Given the description of an element on the screen output the (x, y) to click on. 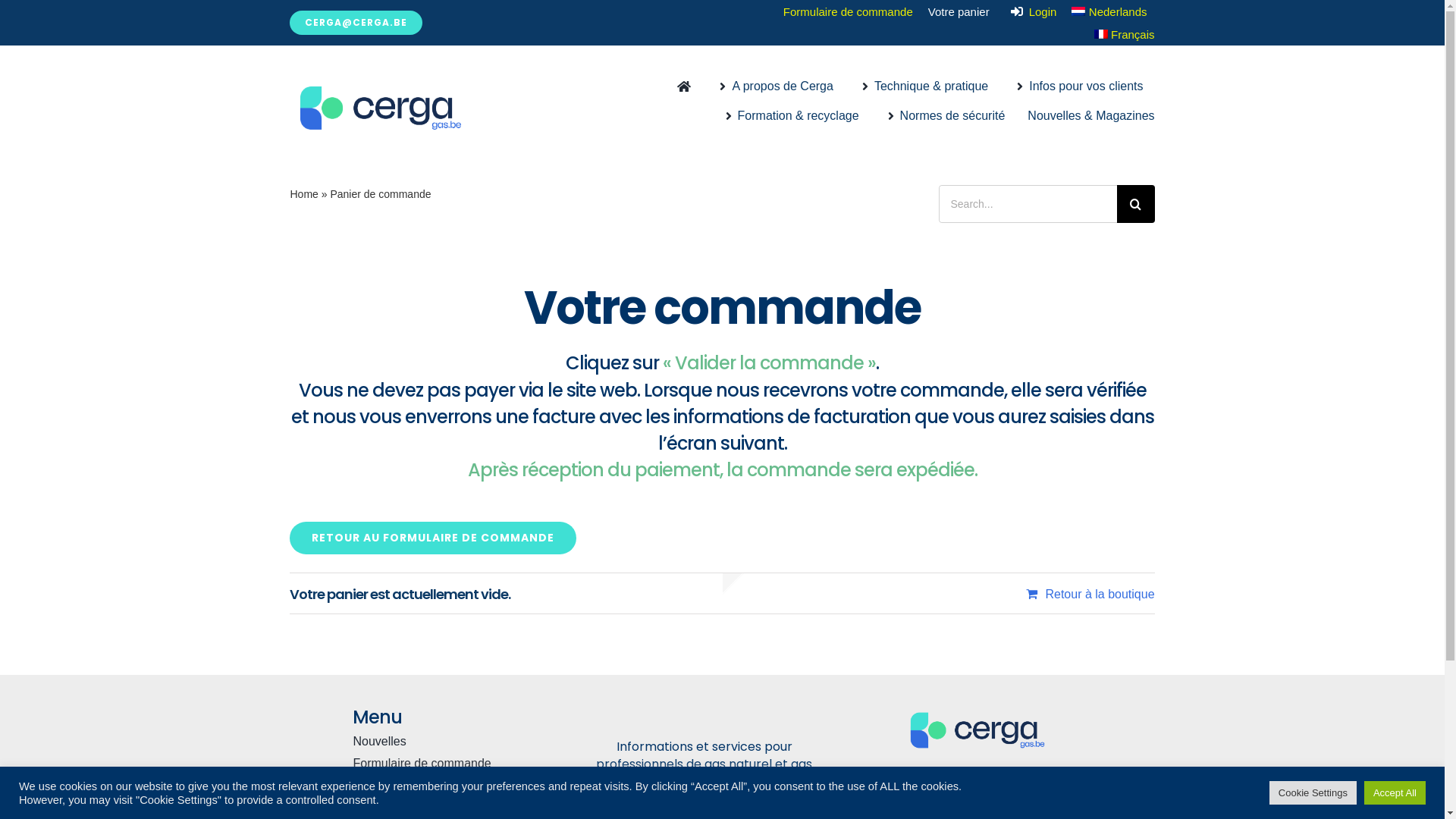
Cerga Tagline_Horizontal Logo-Digital-Full Colour@2x Element type: hover (977, 729)
Accept All Element type: text (1394, 792)
Cookie Settings Element type: text (1312, 792)
CERGA@CERGA.BE Element type: text (355, 22)
Je veux devenir Cerga Element type: text (429, 785)
Continuez vers cerga.be Element type: text (429, 807)
Formulaire de commande Element type: text (429, 764)
Login Element type: text (1030, 11)
Infos pour vos clients Element type: text (1076, 90)
Technique & pratique Element type: text (922, 90)
RETOUR AU FORMULAIRE DE COMMANDE Element type: text (432, 537)
Nouvelles & Magazines Element type: text (1090, 119)
Nederlands Element type: text (1108, 11)
Formation & recyclage Element type: text (789, 119)
Home Element type: text (303, 194)
A propos de Cerga Element type: text (772, 90)
Formulaire de commande Element type: text (848, 11)
Nouvelles Element type: text (429, 742)
Votre panier Element type: text (958, 11)
